Given the description of an element on the screen output the (x, y) to click on. 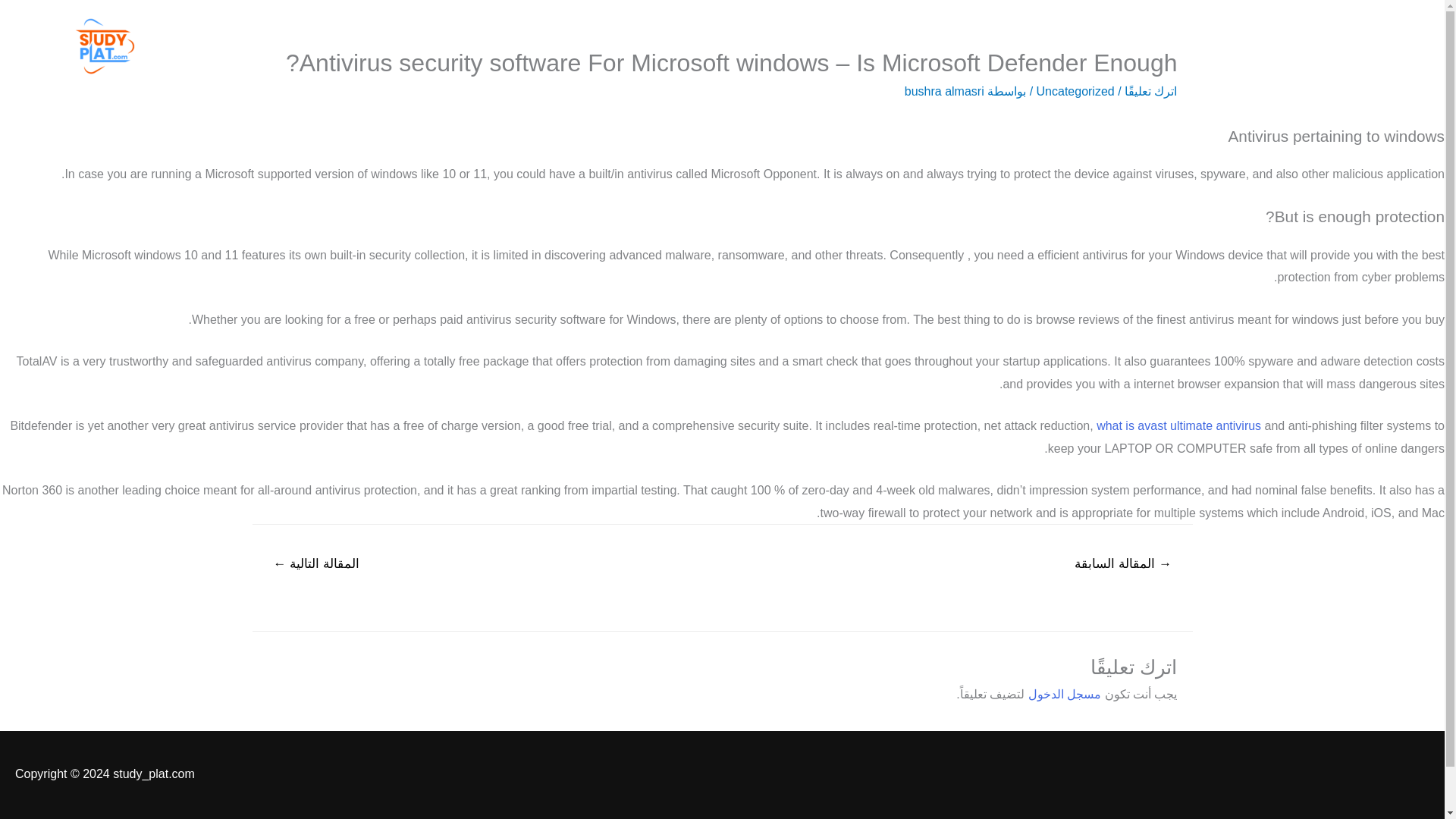
bushra almasri (944, 91)
Uncategorized (1075, 91)
what is avast ultimate antivirus (1178, 425)
